Given the description of an element on the screen output the (x, y) to click on. 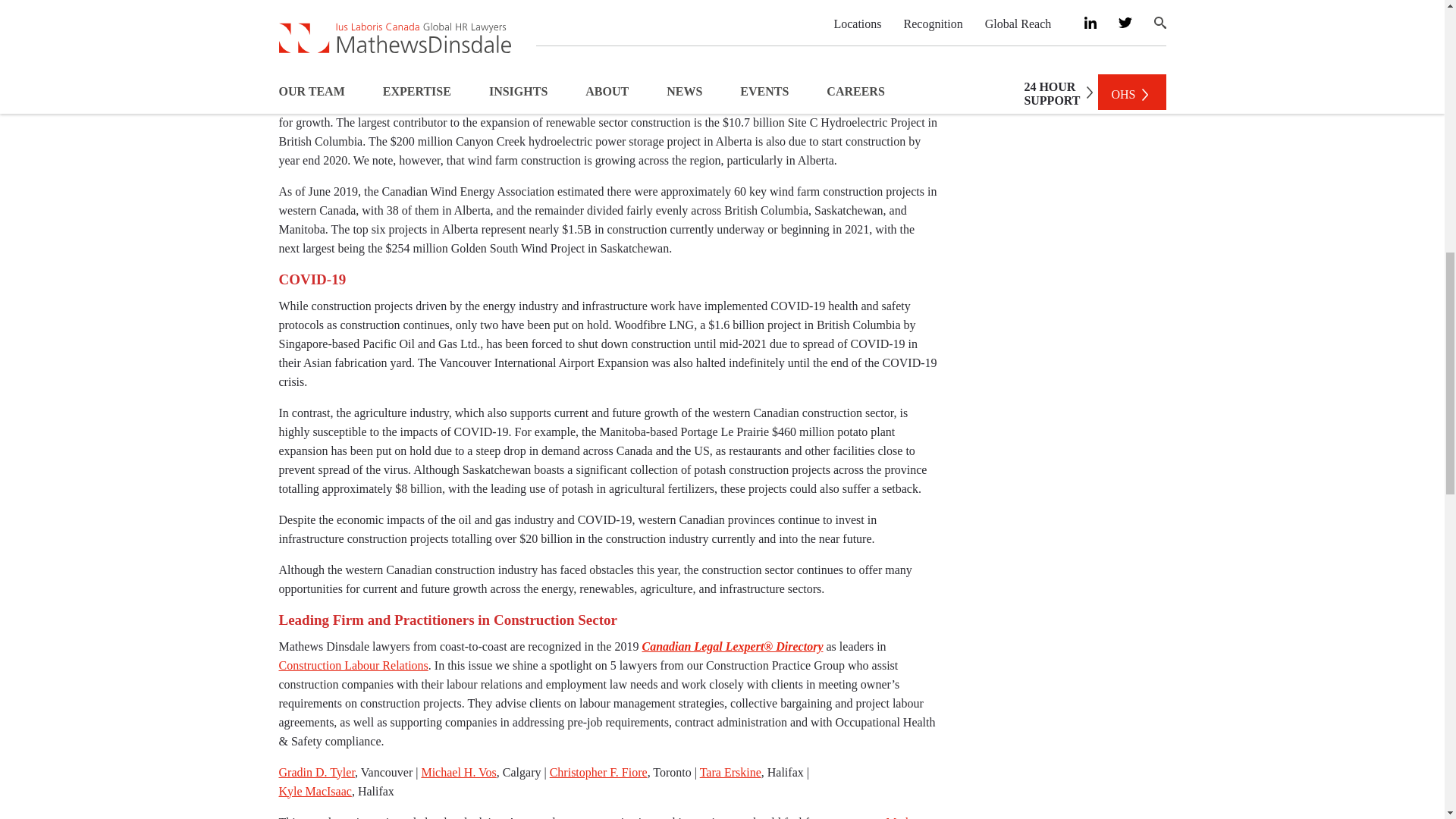
Gradin D. Tyler (317, 771)
Christopher F. Fiore (598, 771)
Construction Labour Relations (353, 664)
Michael H. Vos (458, 771)
Kyle MacIsaac (315, 789)
Tara Erskine (730, 771)
